Given the description of an element on the screen output the (x, y) to click on. 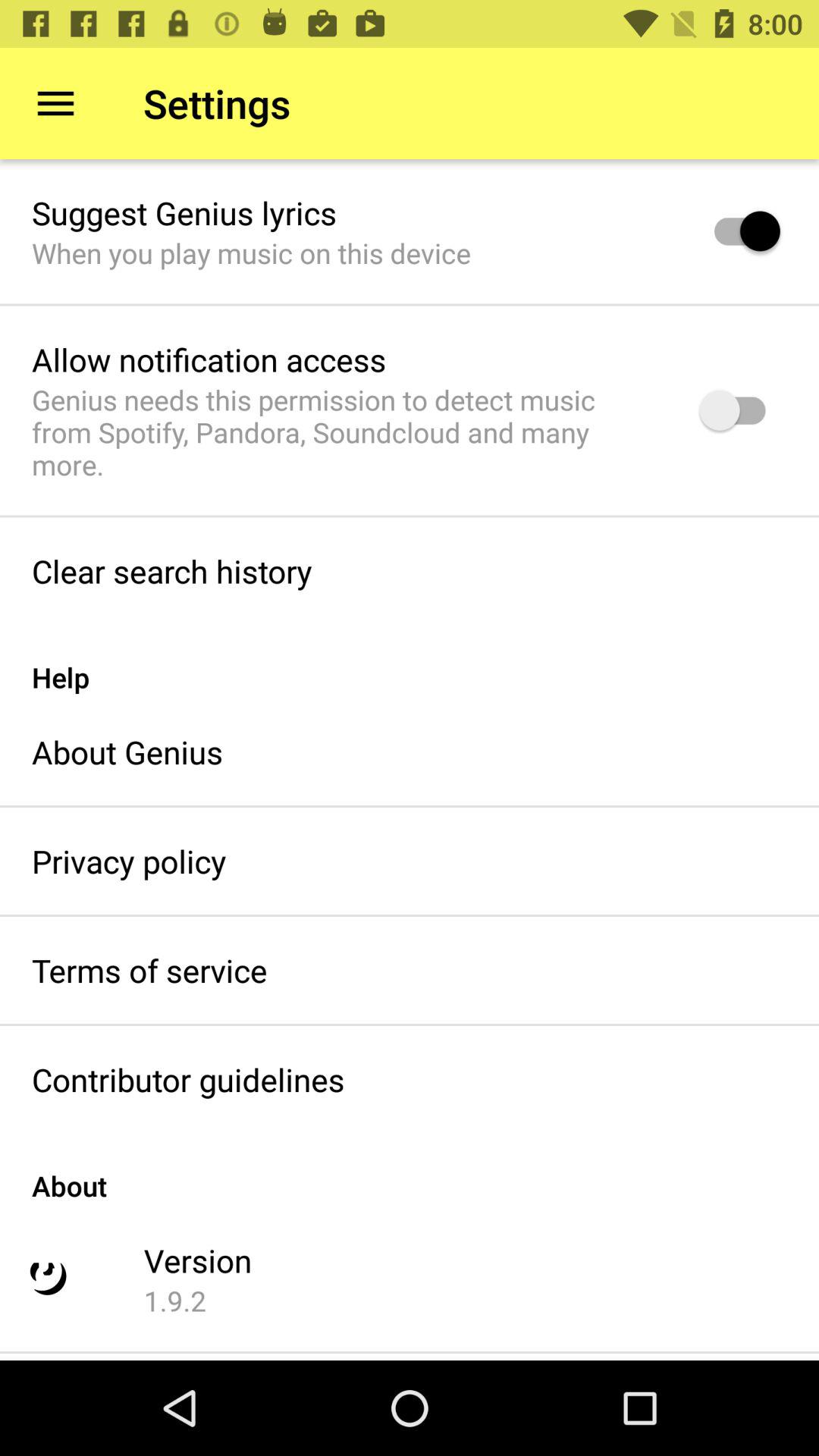
scroll until the genius needs this (345, 432)
